Given the description of an element on the screen output the (x, y) to click on. 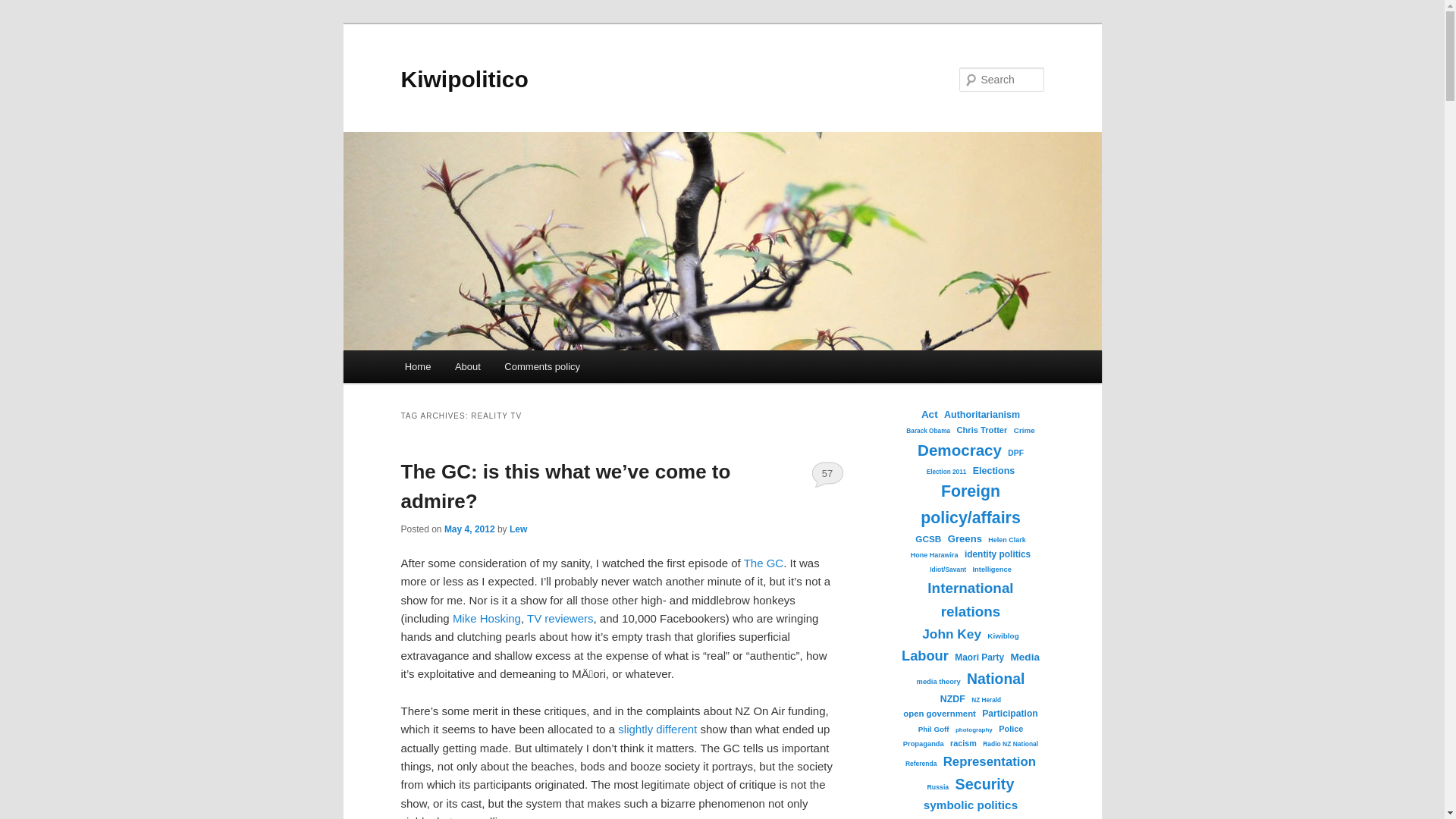
Kiwipolitico (463, 78)
slightly different (657, 728)
Lew (518, 529)
Search (24, 8)
The GC (764, 562)
Home (417, 366)
May 4, 2012 (469, 529)
10:59 (469, 529)
About (467, 366)
